Given the description of an element on the screen output the (x, y) to click on. 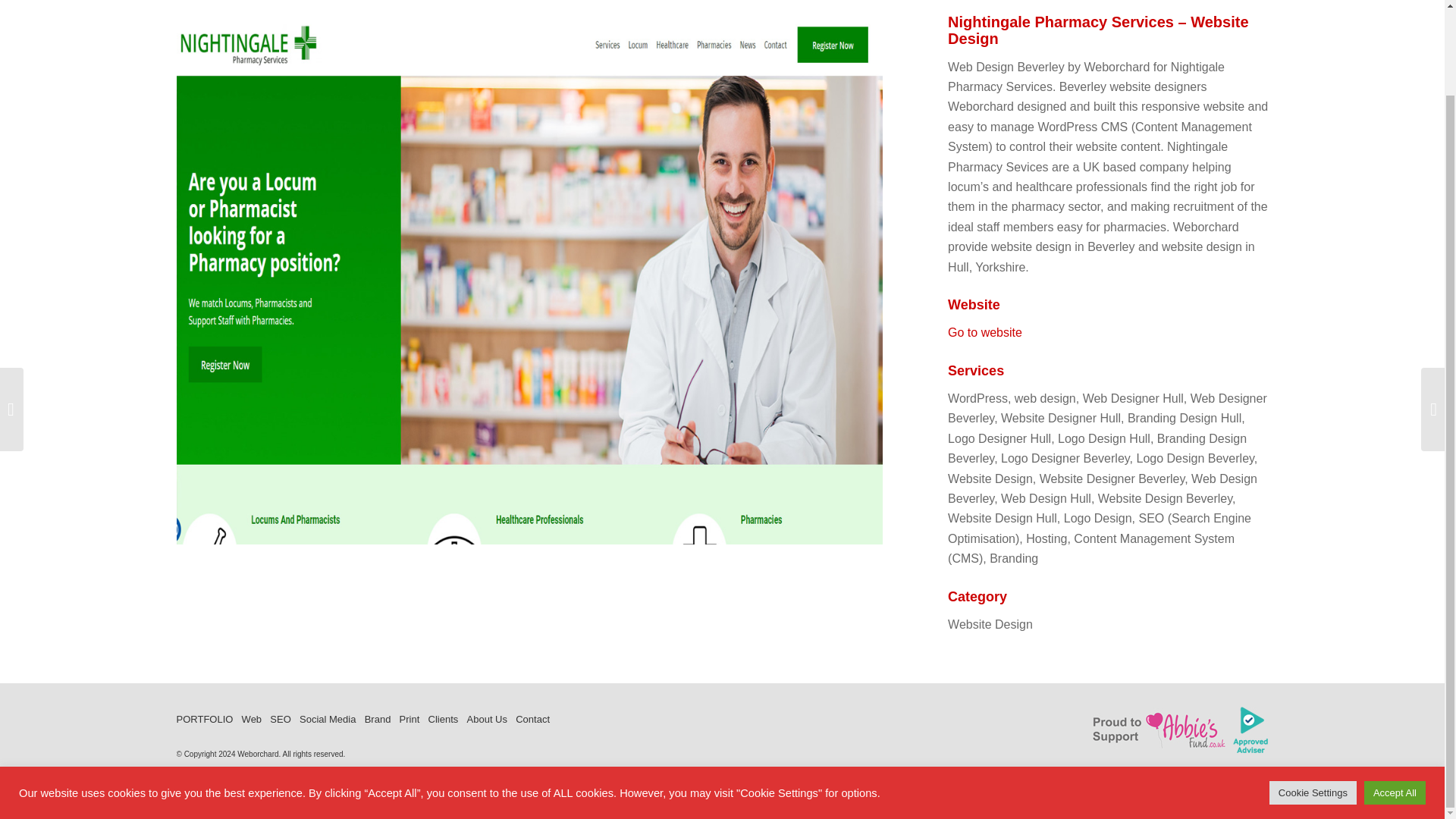
PORTFOLIO (204, 719)
Acceptable Use Policy (213, 774)
Social Media (327, 719)
Clients (443, 719)
SEO (279, 719)
Print (409, 719)
Go to website (984, 332)
About Us (486, 719)
Cookies Policy (282, 774)
Contact (532, 719)
Brand (378, 719)
Privacy Policy (337, 774)
Accept All (1394, 695)
Terms of website use (402, 774)
Cookie Settings (1312, 695)
